Given the description of an element on the screen output the (x, y) to click on. 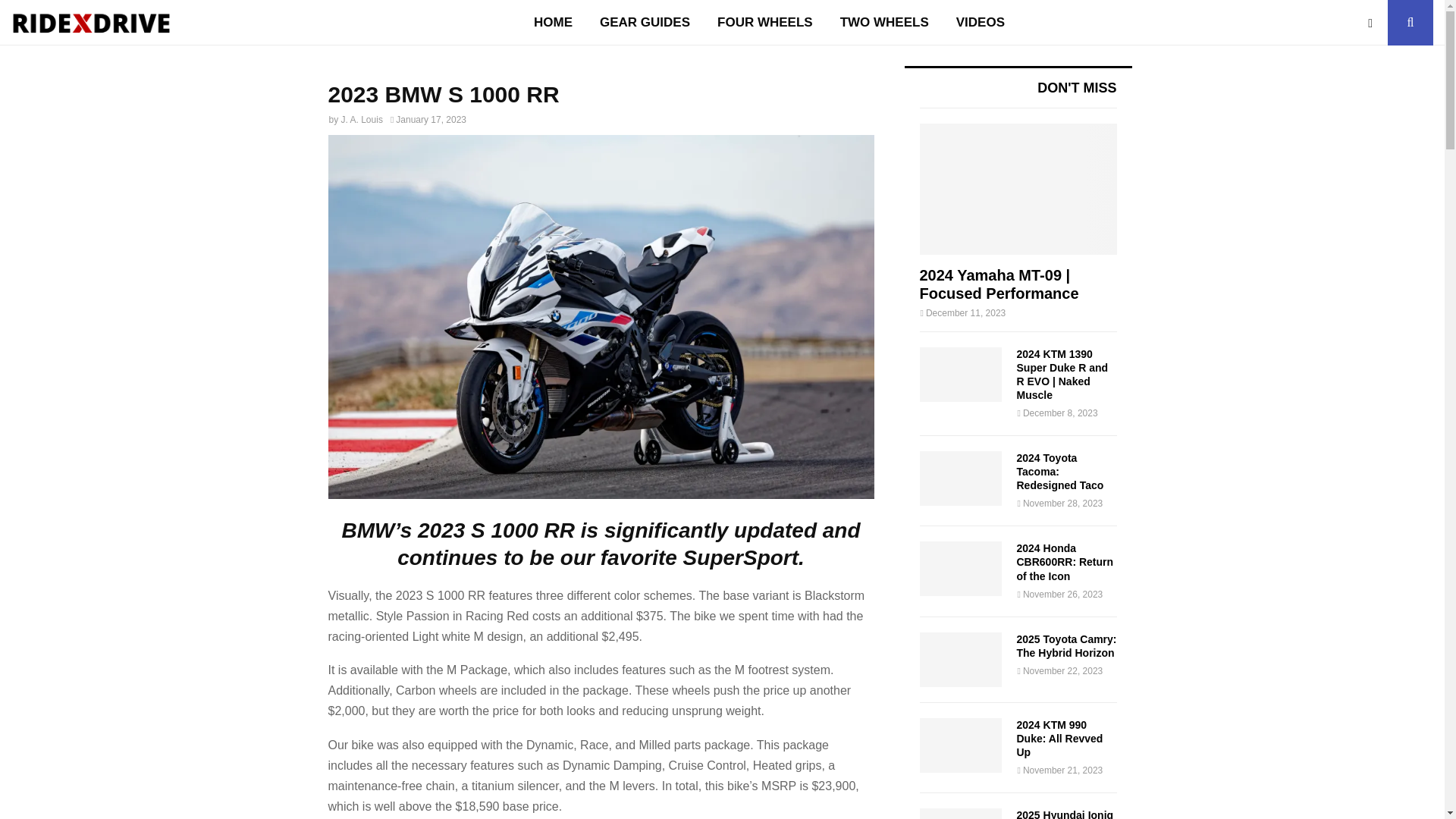
HOME (552, 22)
VIDEOS (979, 22)
TWO WHEELS (884, 22)
GEAR GUIDES (644, 22)
J. A. Louis (361, 119)
FOUR WHEELS (765, 22)
